Given the description of an element on the screen output the (x, y) to click on. 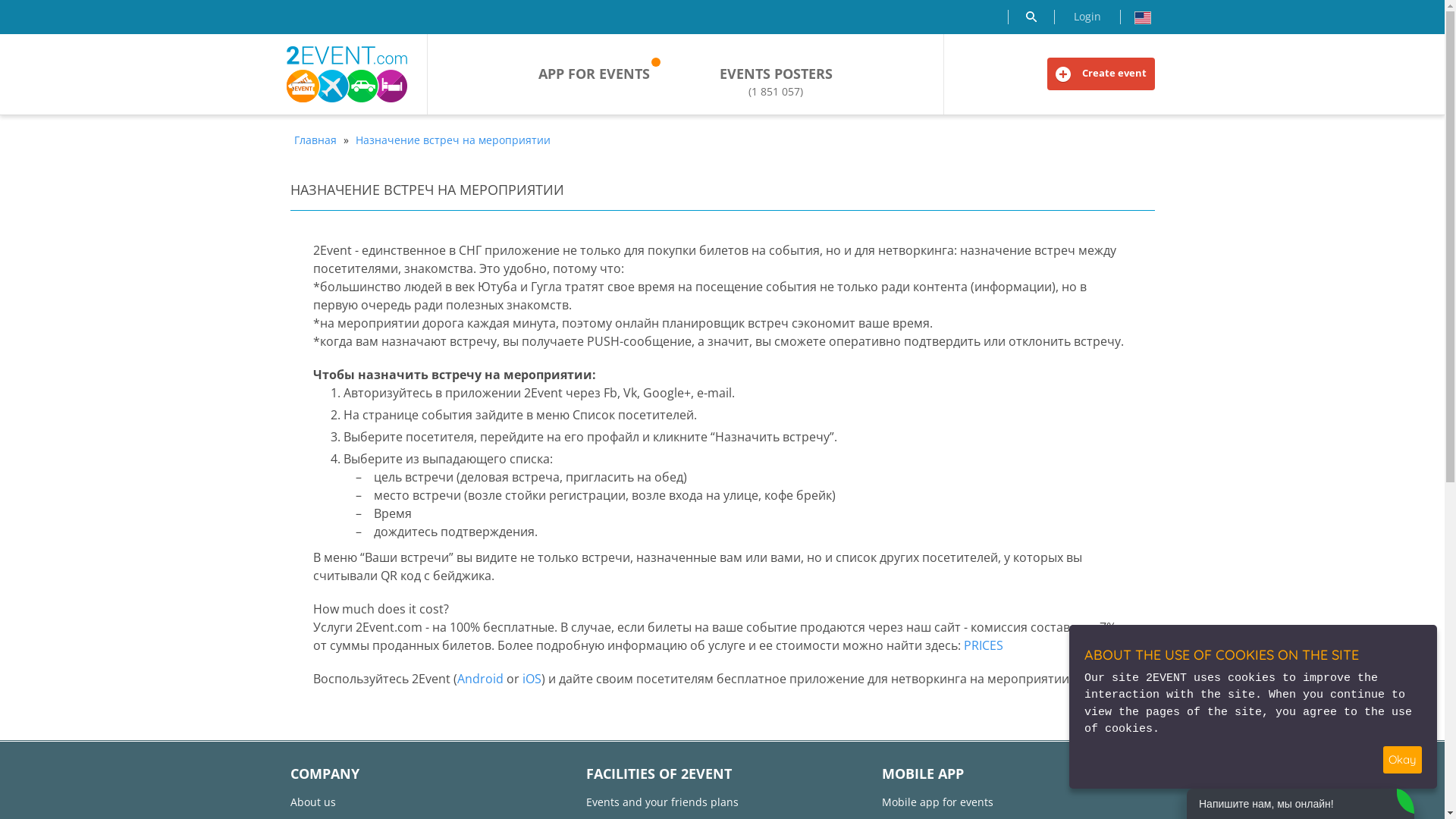
EVENTS POSTERS
(1 851 057) Element type: text (776, 81)
FACILITIES OF 2EVENT Element type: text (658, 773)
Search Element type: hover (1030, 16)
APP FOR EVENTS Element type: text (593, 73)
about us Element type: text (312, 801)
Events and your friends plans Element type: text (661, 801)
PRICES Element type: text (982, 645)
iOS Element type: text (530, 678)
Mobile app for events Element type: text (936, 801)
MOBILE APP Element type: text (922, 773)
Login Element type: text (1087, 16)
COMPANY Element type: text (323, 773)
Create event Element type: text (1100, 73)
Okay Element type: text (1402, 760)
Android Element type: text (479, 678)
